Given the description of an element on the screen output the (x, y) to click on. 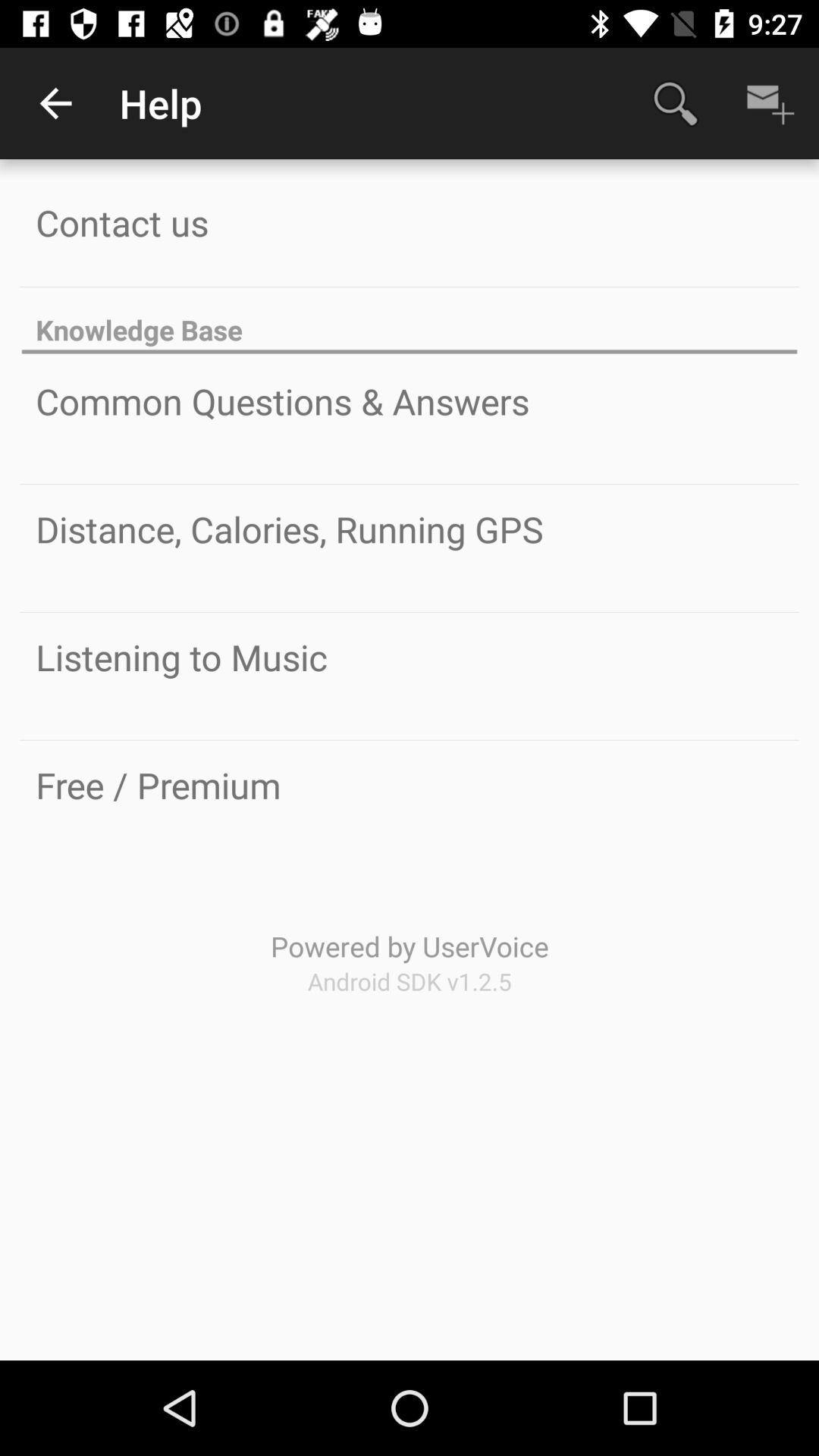
open the app next to help item (55, 103)
